Given the description of an element on the screen output the (x, y) to click on. 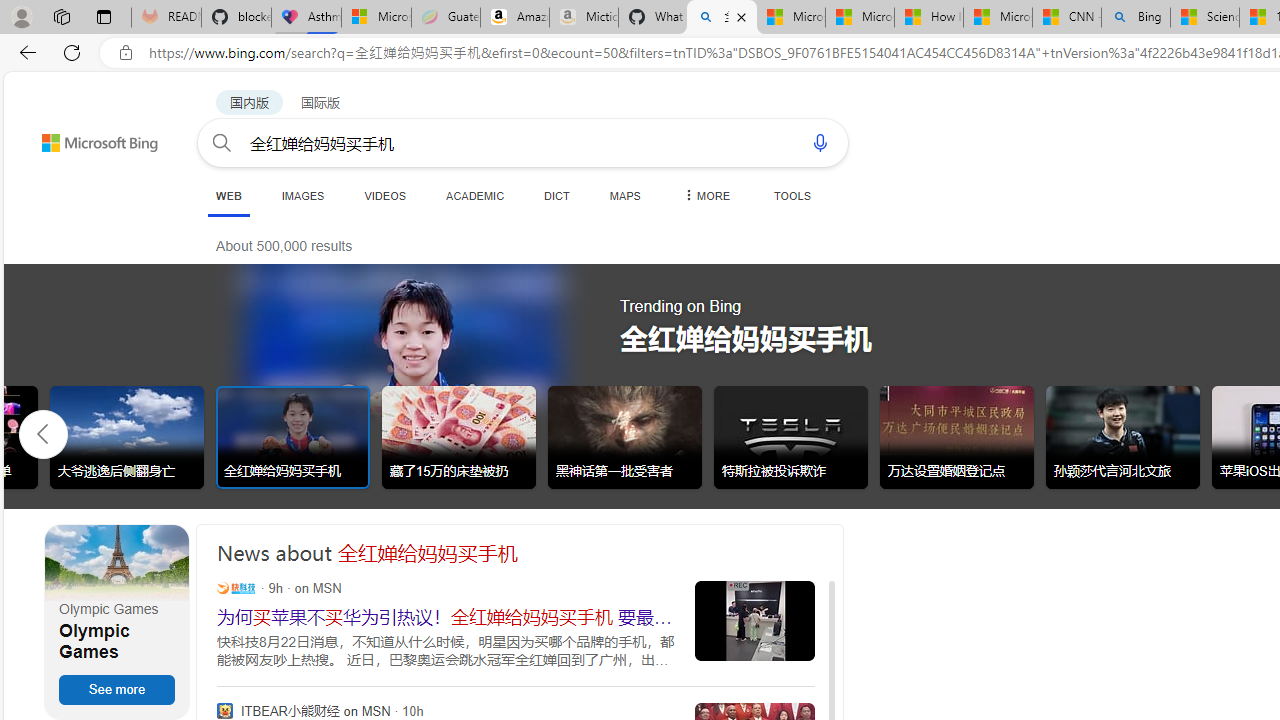
DICT (557, 195)
VIDEOS (384, 195)
How I Got Rid of Microsoft Edge's Unnecessary Features (928, 17)
VIDEOS (384, 195)
Olympic Games Olympic Games See more (116, 621)
